Given the description of an element on the screen output the (x, y) to click on. 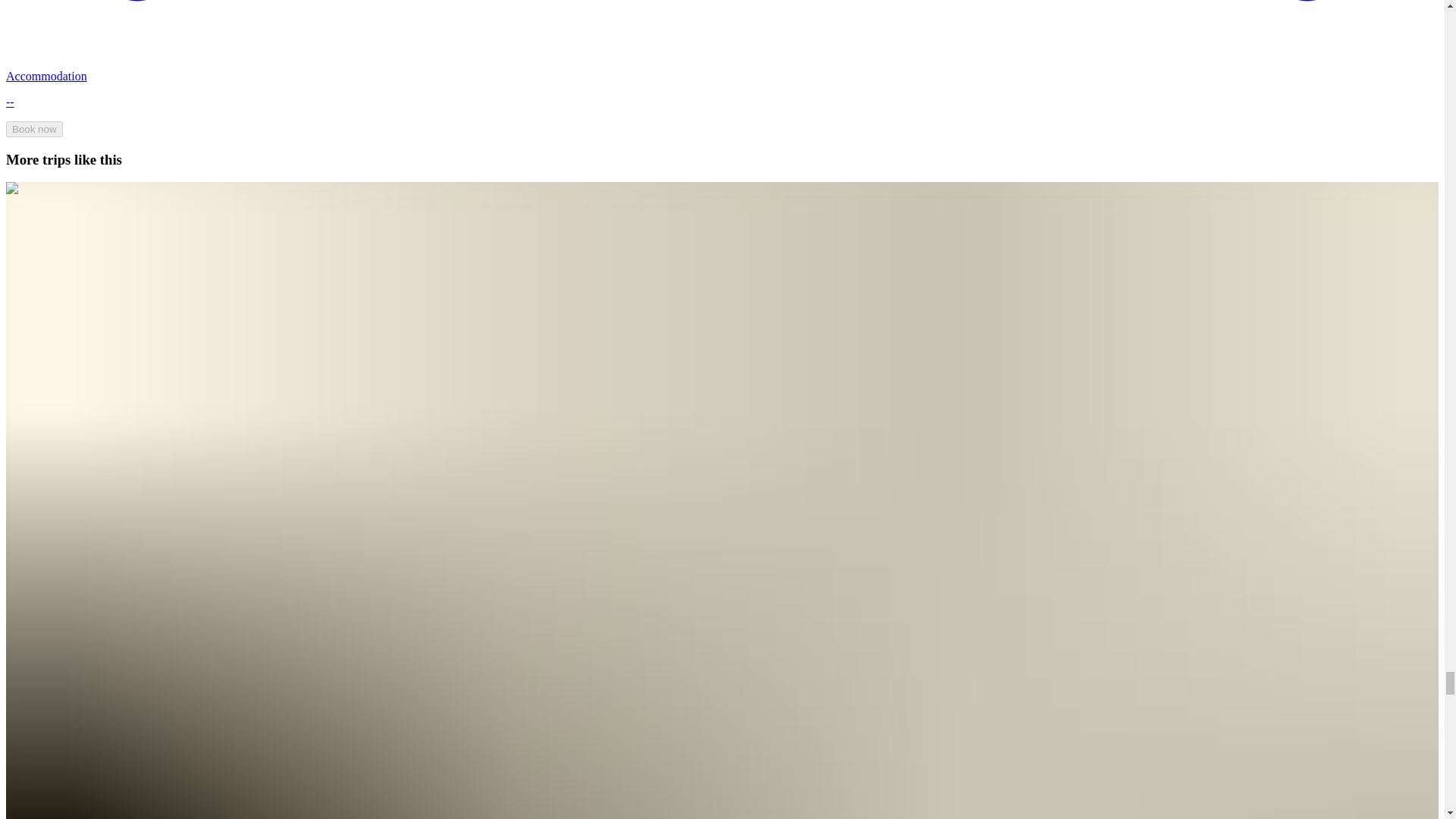
Close map view (46, 226)
Close map view (46, 667)
Close map view (46, 447)
